Given the description of an element on the screen output the (x, y) to click on. 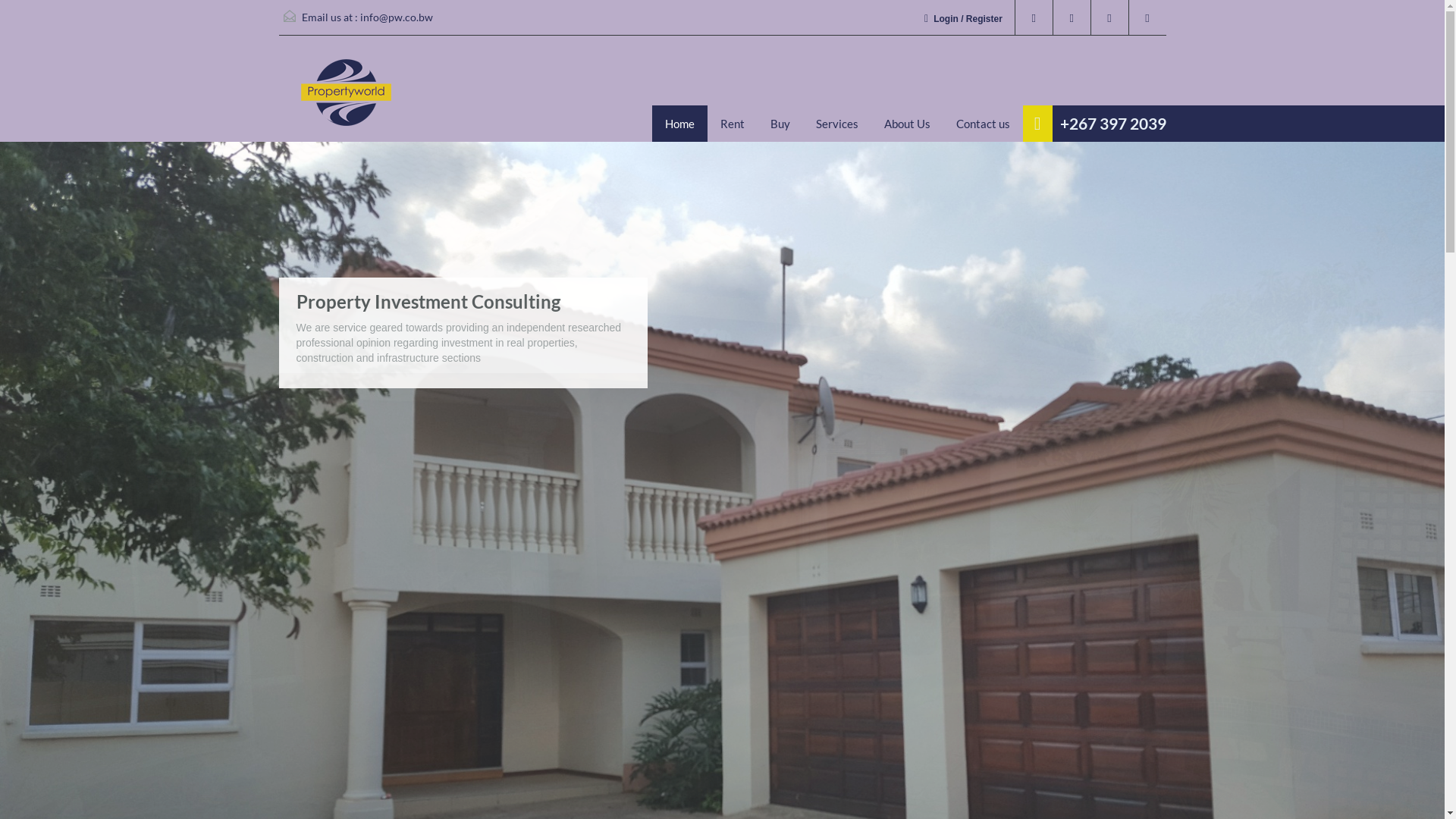
Login / Register Element type: text (967, 19)
Contact us Element type: text (982, 123)
Buy Element type: text (780, 123)
About Us Element type: text (907, 123)
Rent Element type: text (732, 123)
Services Element type: text (837, 123)
Home Element type: text (679, 123)
info@pw.co.bw Element type: text (395, 16)
